Given the description of an element on the screen output the (x, y) to click on. 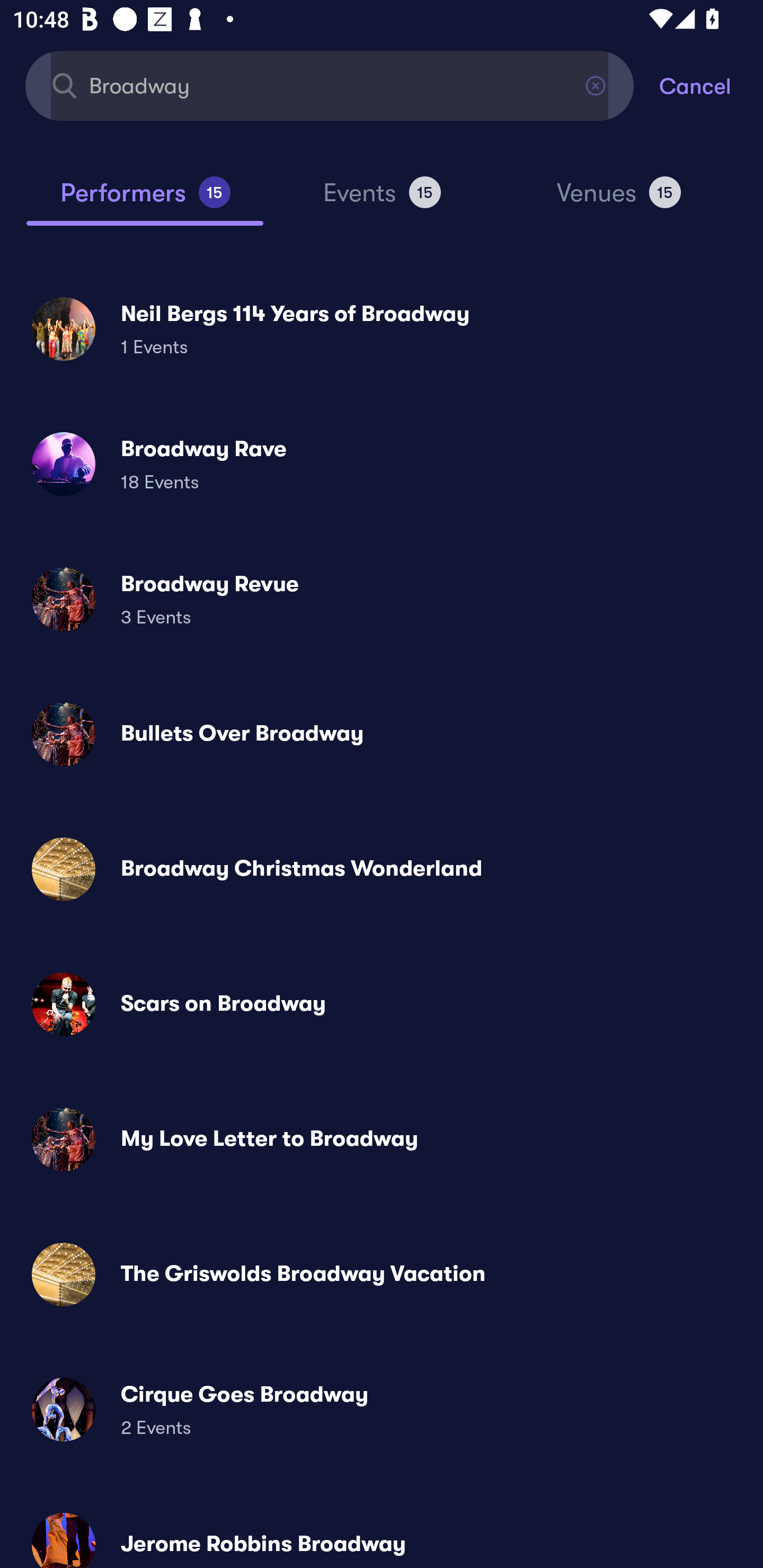
Broadway Find (329, 85)
Broadway Find (329, 85)
Cancel (711, 85)
Performers 15 (144, 200)
Events 15 (381, 200)
Venues 15 (618, 200)
Neil Bergs 114 Years of Broadway 1 Events (381, 328)
Broadway Rave 18 Events (381, 464)
Broadway Revue 3 Events (381, 598)
Bullets Over Broadway (381, 734)
Broadway Christmas Wonderland (381, 869)
Scars on Broadway (381, 1004)
My Love Letter to Broadway (381, 1138)
The Griswolds Broadway Vacation (381, 1273)
Cirque Goes Broadway 2 Events (381, 1409)
Jerome Robbins Broadway (381, 1532)
